Given the description of an element on the screen output the (x, y) to click on. 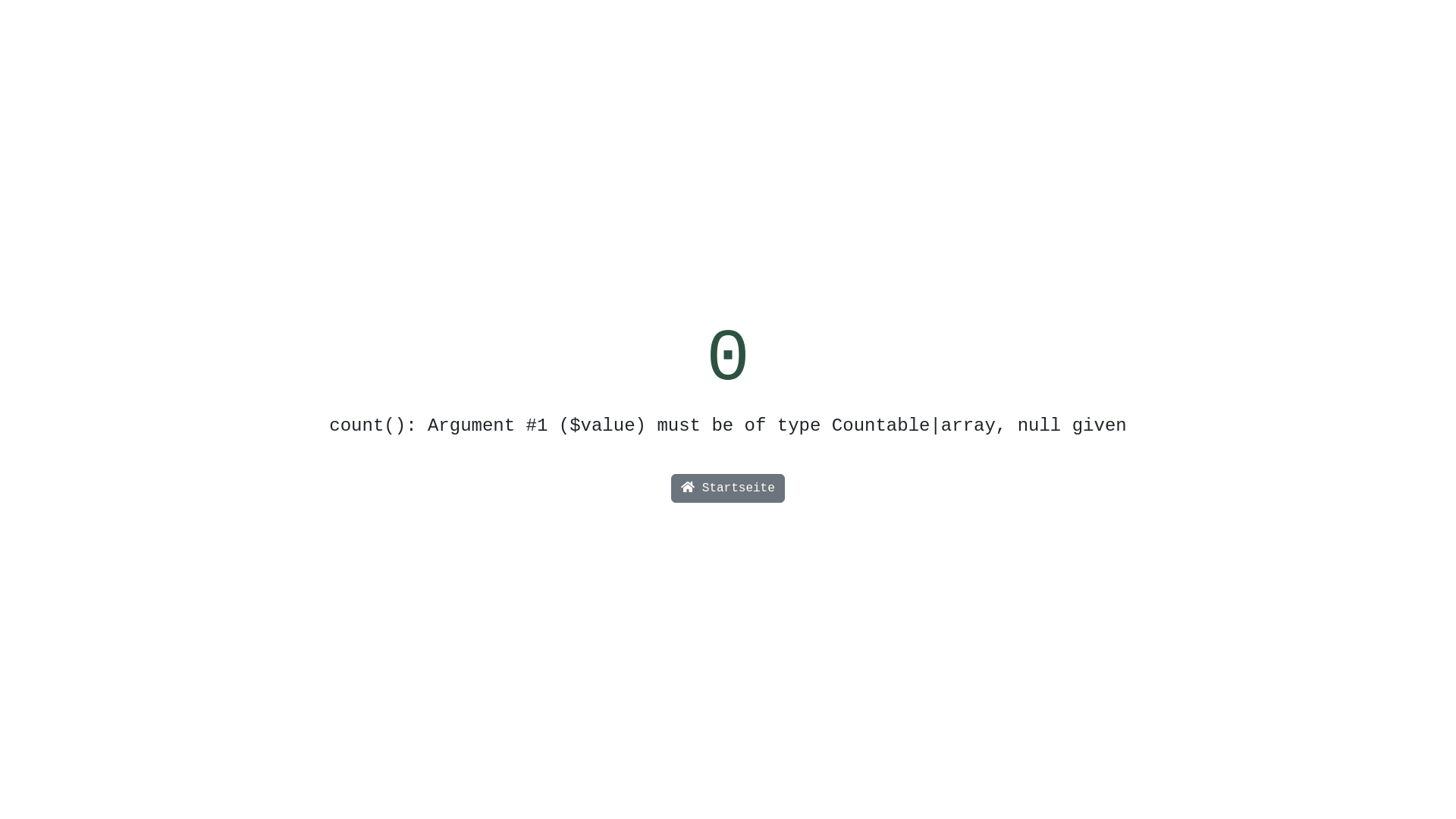
Startseite Element type: text (727, 487)
